Given the description of an element on the screen output the (x, y) to click on. 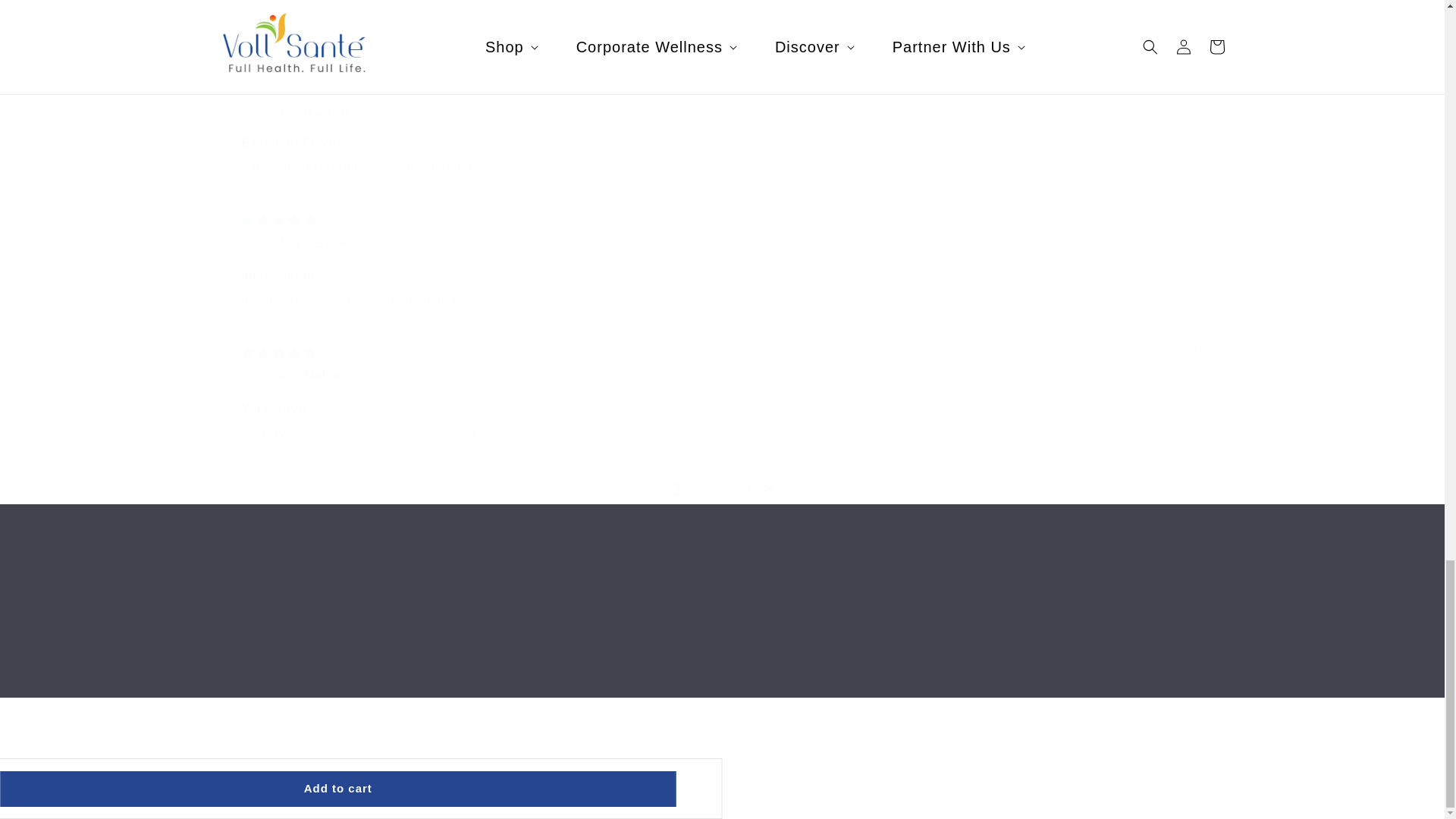
Privacy Policy (721, 644)
tel:022-47499012 (264, 658)
About US (1050, 636)
Shipping and Return Policy (249, 635)
